Given the description of an element on the screen output the (x, y) to click on. 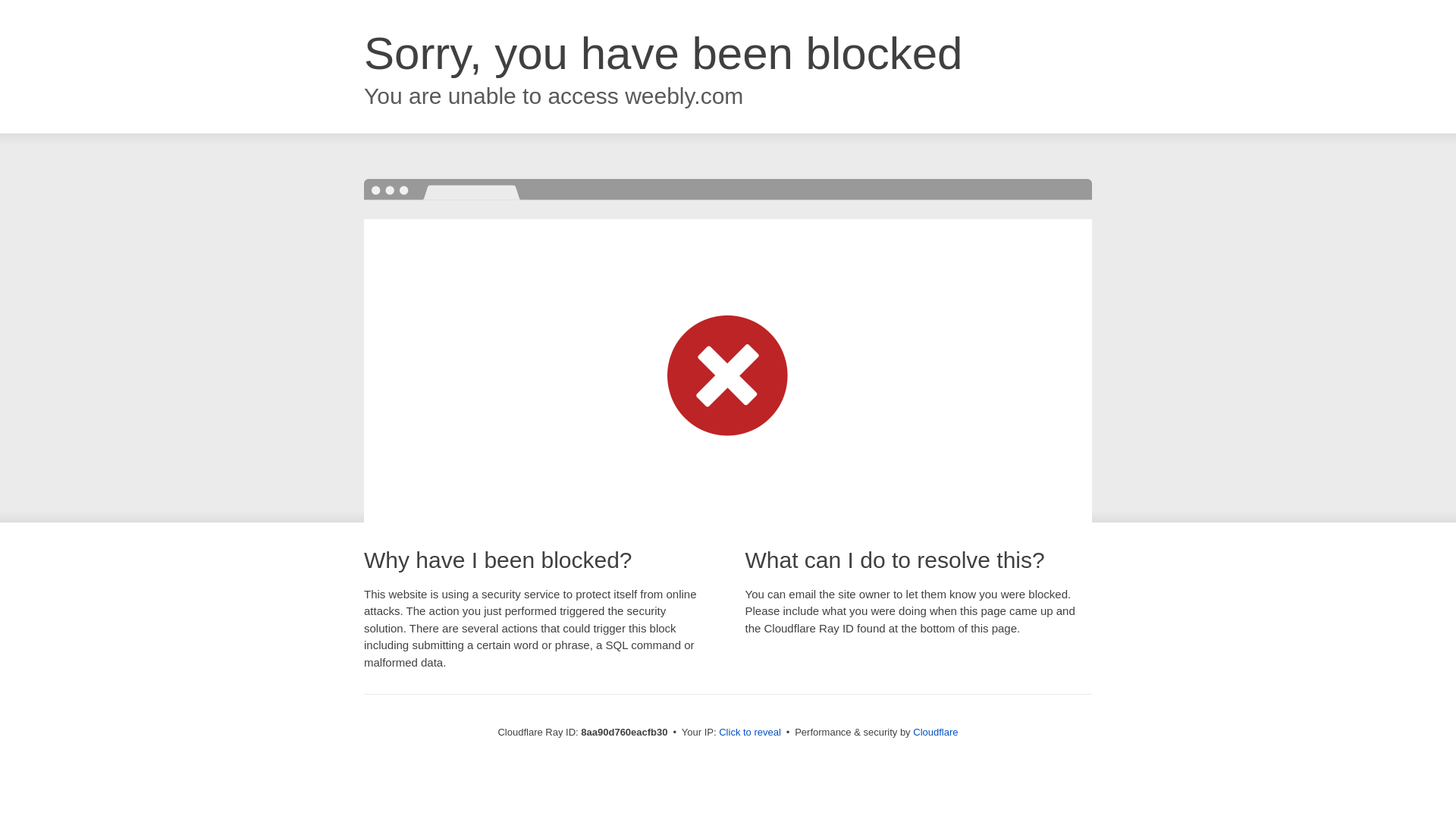
Click to reveal (749, 732)
Cloudflare (935, 731)
